Given the description of an element on the screen output the (x, y) to click on. 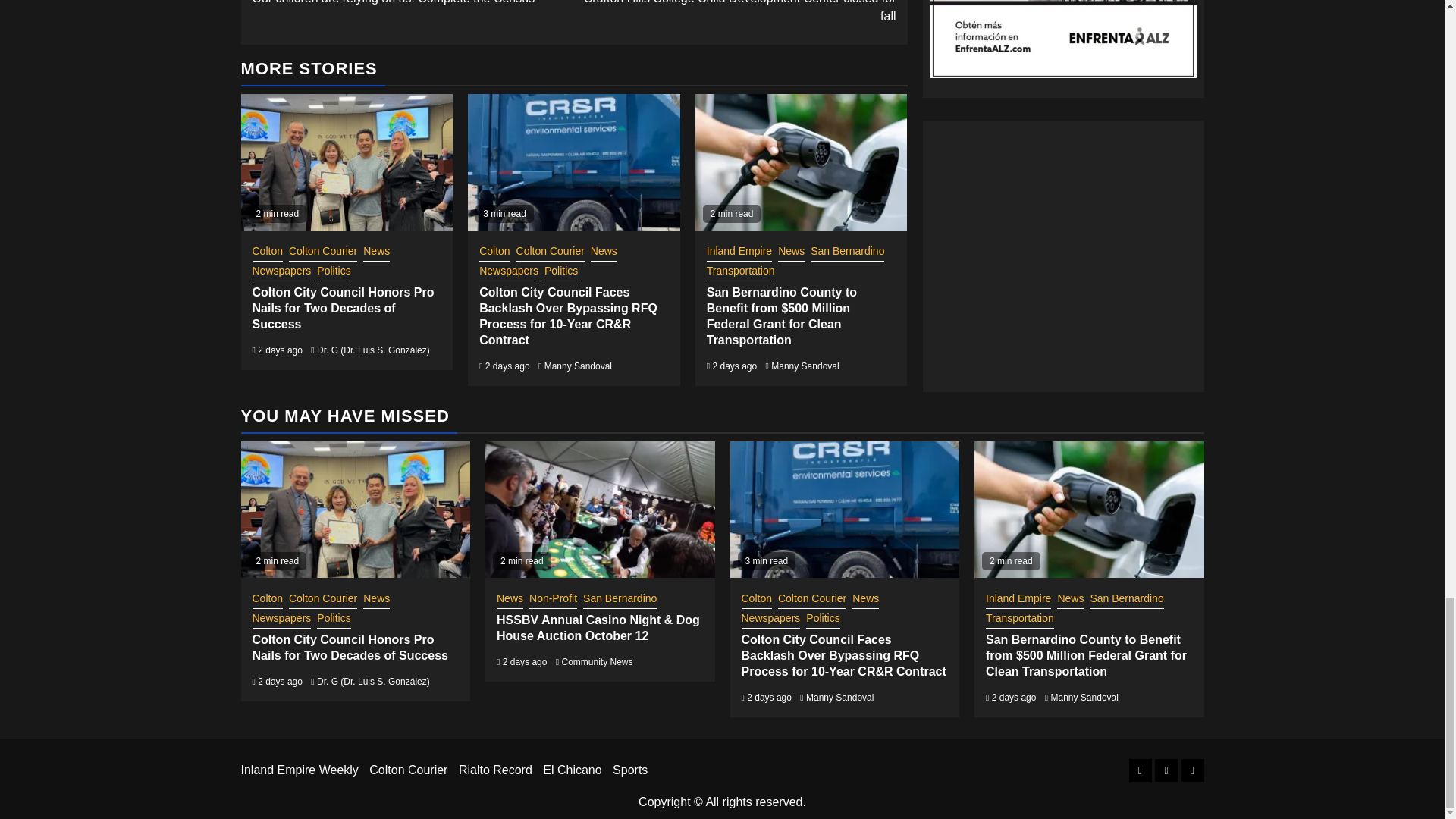
Colton Courier (550, 252)
News (604, 252)
Politics (333, 271)
Colton (494, 252)
Politics (412, 3)
News (561, 271)
Colton Courier (376, 252)
Newspapers (322, 252)
Colton (281, 271)
Newspapers (266, 252)
